Given the description of an element on the screen output the (x, y) to click on. 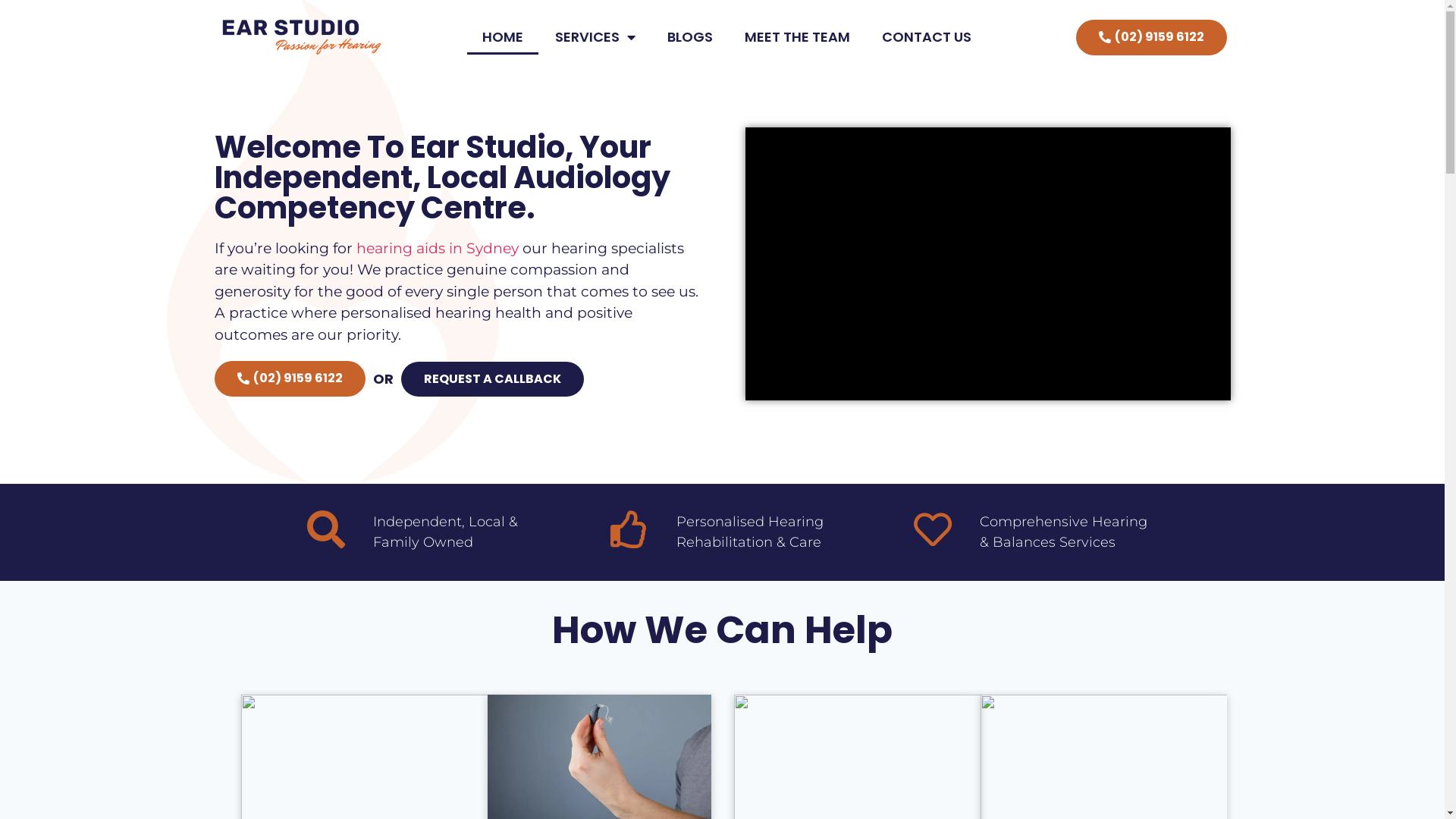
HOME Element type: text (502, 36)
(02) 9159 6122 Element type: text (288, 378)
MEET THE TEAM Element type: text (797, 36)
CONTACT US Element type: text (925, 36)
(02) 9159 6122 Element type: text (1150, 37)
hearing aids in Sydney Element type: text (437, 248)
SERVICES Element type: text (594, 36)
BLOGS Element type: text (690, 36)
REQUEST A CALLBACK Element type: text (491, 378)
